Given the description of an element on the screen output the (x, y) to click on. 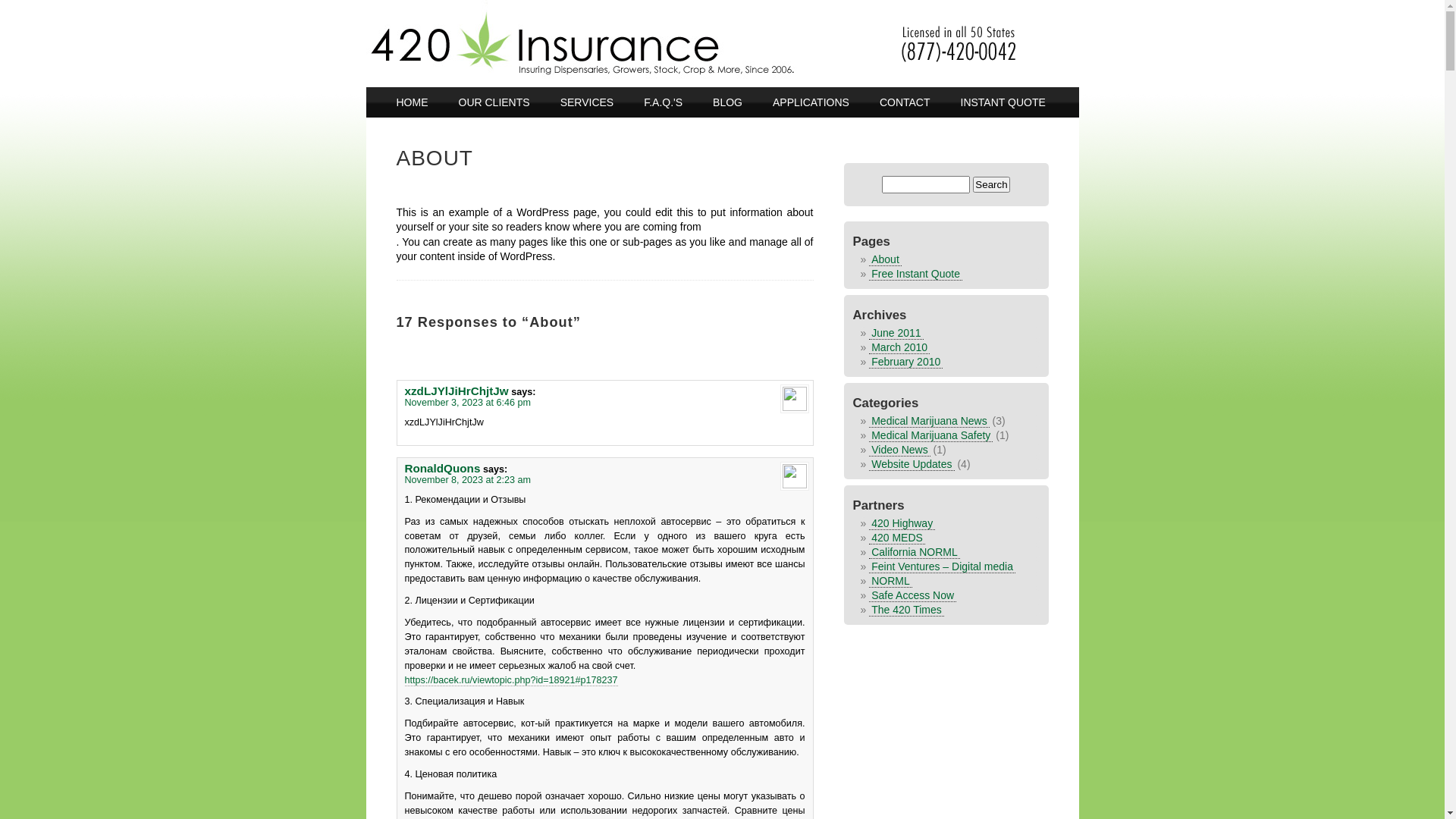
CONTACT Element type: text (904, 102)
February 2010 Element type: text (905, 360)
SERVICES Element type: text (587, 102)
Website Updates Element type: text (911, 462)
NORML Element type: text (890, 579)
APPLICATIONS Element type: text (810, 102)
HOME Element type: text (411, 102)
420 Highway Element type: text (902, 522)
xzdLJYlJiHrChjtJw Element type: text (456, 390)
June 2011 Element type: text (895, 331)
Safe Access Now Element type: text (912, 594)
March 2010 Element type: text (899, 346)
Video News Element type: text (899, 448)
November 8, 2023 at 2:23 am Element type: text (467, 479)
Medical Marijuana News Element type: text (929, 419)
Search Element type: text (990, 184)
Medical Marijuana Safety Element type: text (930, 434)
Free Instant Quote Element type: text (915, 272)
RonaldQuons Element type: text (442, 467)
420 MEDS Element type: text (897, 536)
INSTANT QUOTE Element type: text (1002, 102)
F.A.Q.'S Element type: text (662, 102)
BLOG Element type: text (727, 102)
November 3, 2023 at 6:46 pm Element type: text (467, 402)
About Element type: text (885, 258)
OUR CLIENTS Element type: text (493, 102)
California NORML Element type: text (914, 550)
https://bacek.ru/viewtopic.php?id=18921#p178237 Element type: text (511, 680)
The 420 Times Element type: text (906, 608)
